Given the description of an element on the screen output the (x, y) to click on. 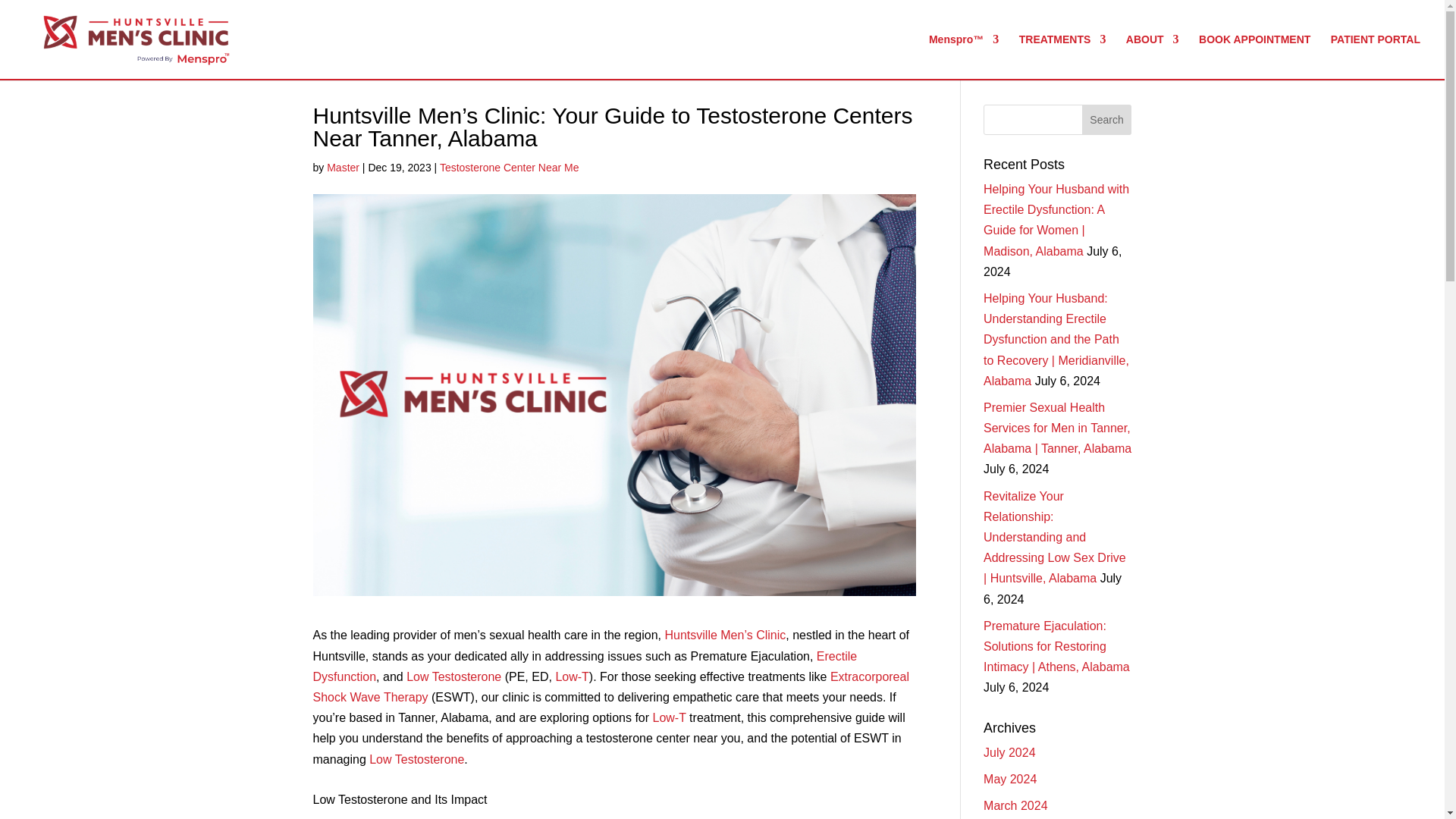
LOW-T LINK (668, 717)
Search (1106, 119)
LOW-T LINK (571, 676)
ED Link (585, 666)
ABOUT (1152, 56)
Testosterone Center Near Me (509, 167)
Low-T (571, 676)
Erectile Dysfunction (585, 666)
LOW-T LINK (360, 818)
LOW-T LINK (416, 758)
